Given the description of an element on the screen output the (x, y) to click on. 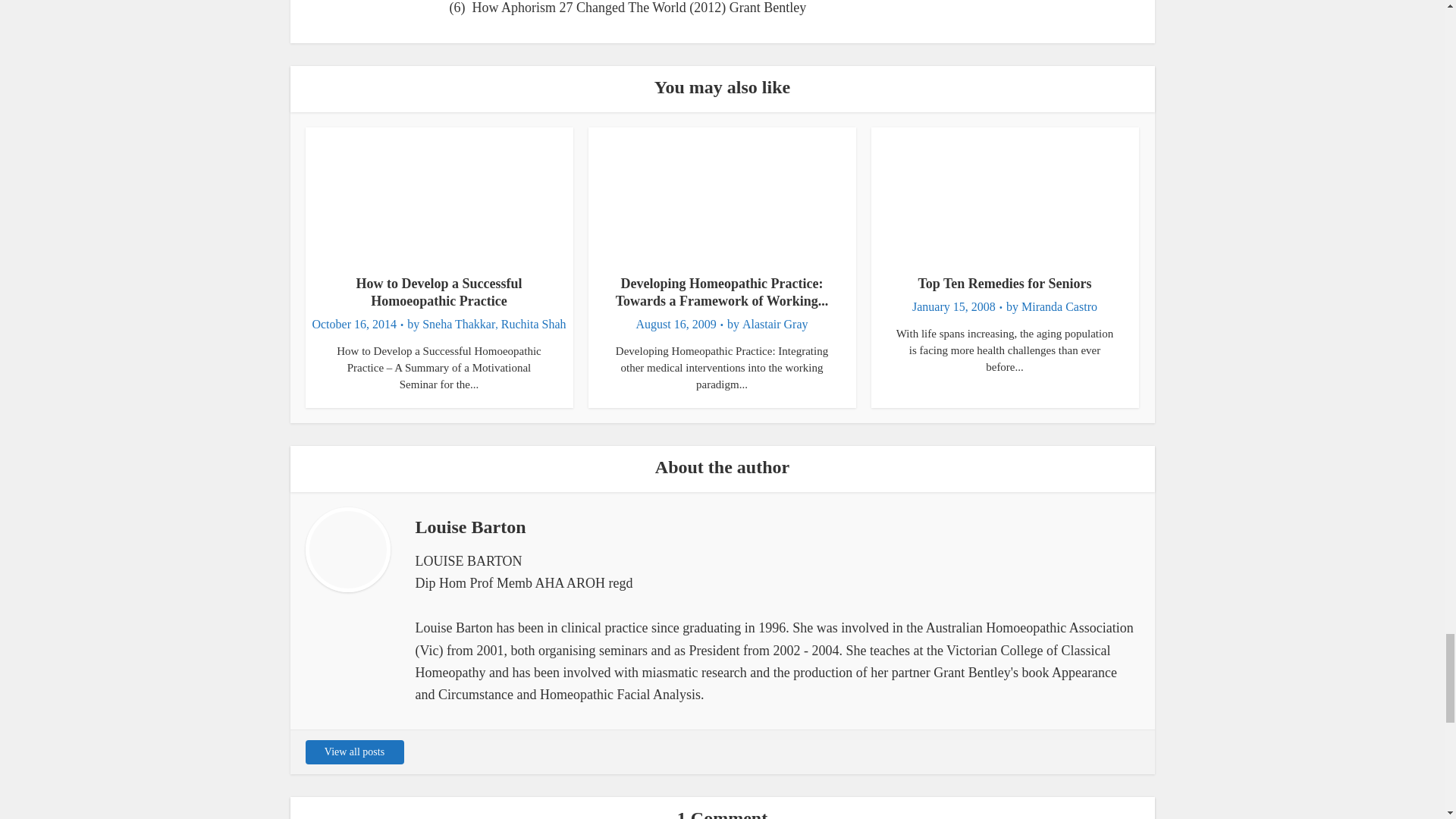
How to Develop a Successful Homoeopathic Practice (439, 292)
Top Ten Remedies for Seniors (1003, 283)
